Given the description of an element on the screen output the (x, y) to click on. 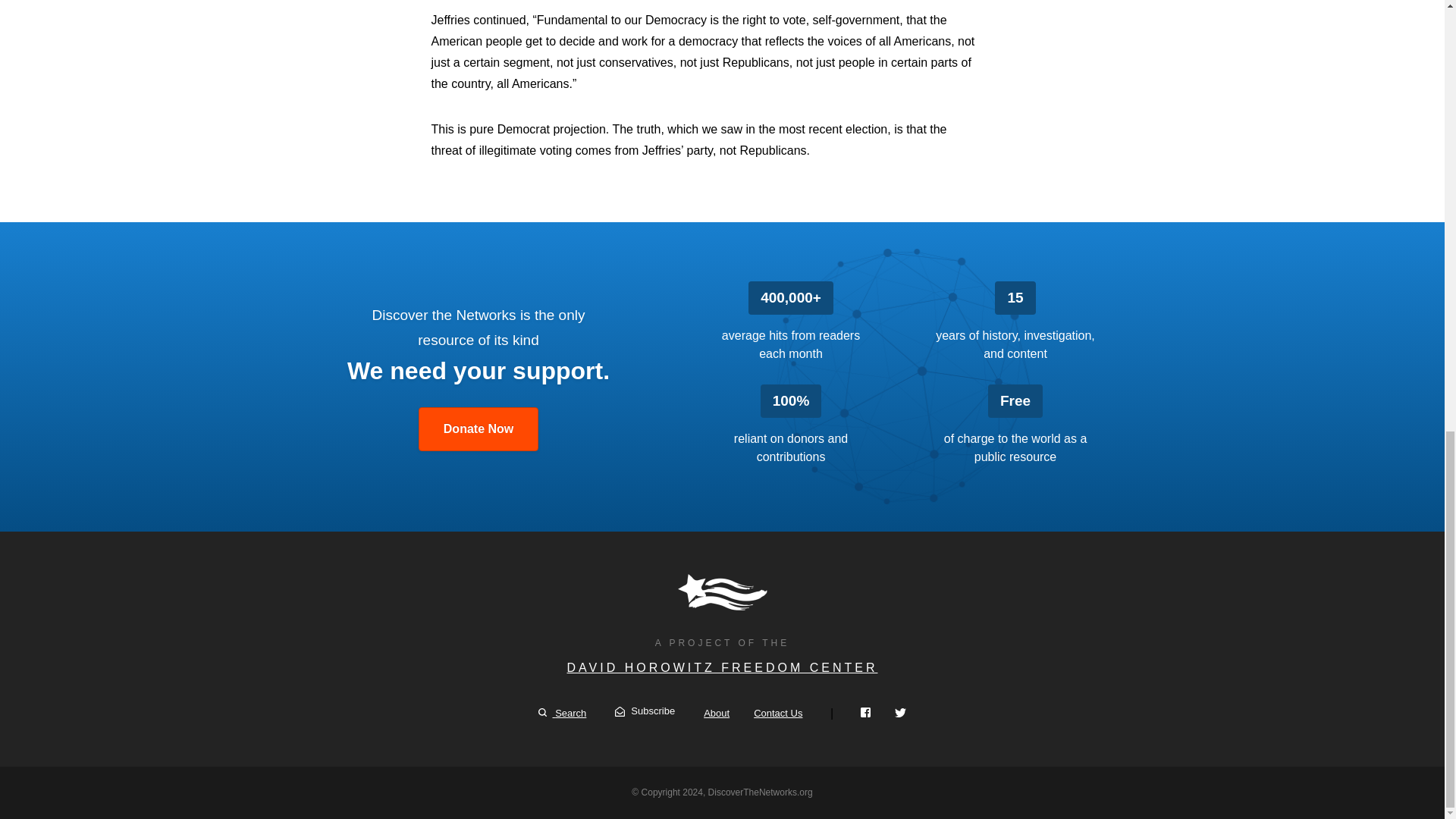
About (716, 713)
Contact Us (778, 713)
Subscribe (644, 711)
DAVID HOROWITZ FREEDOM CENTER (722, 667)
Search (562, 713)
Donate Now (478, 429)
